Given the description of an element on the screen output the (x, y) to click on. 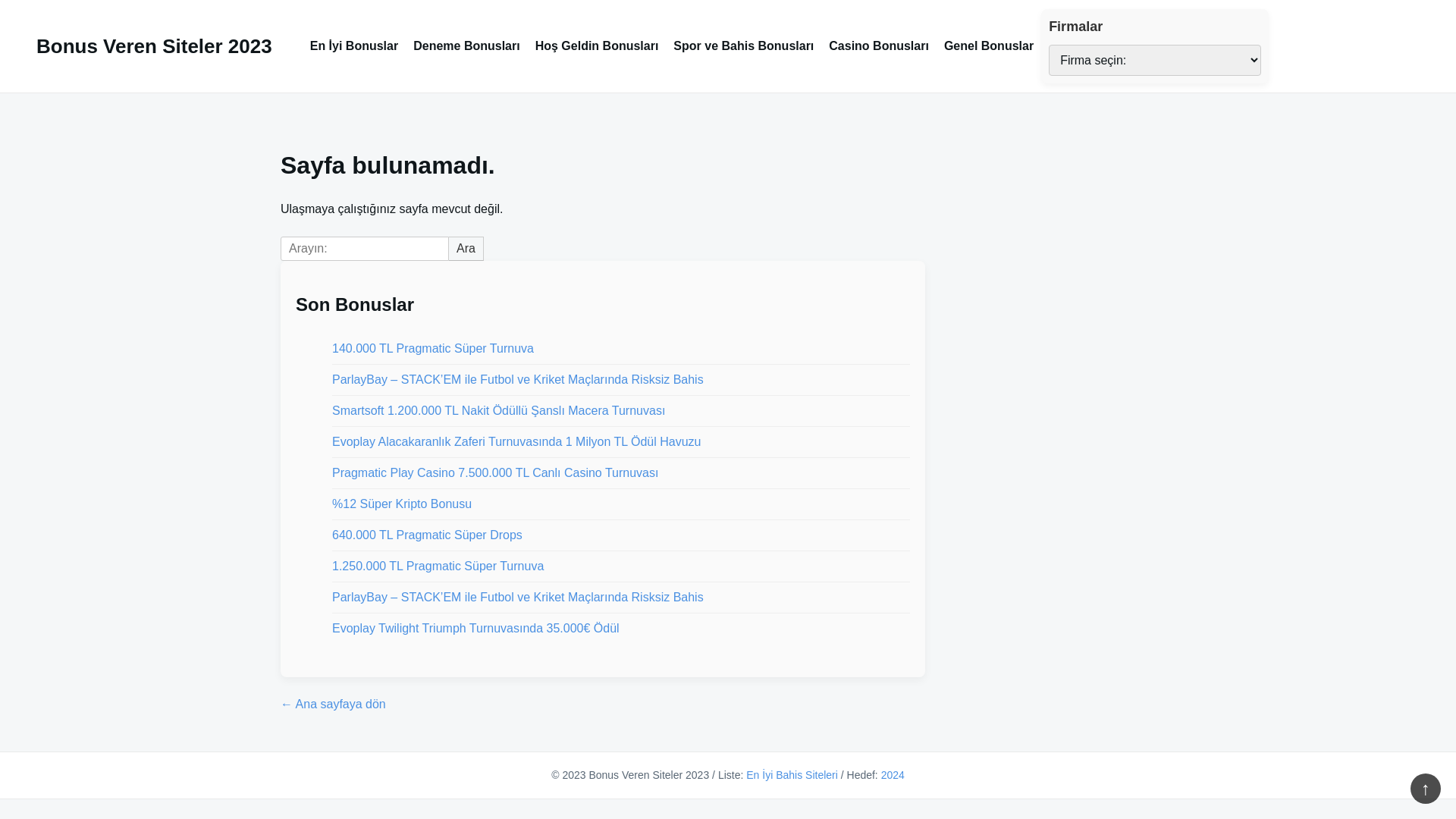
Bonus Veren Siteler 2023 Element type: text (154, 45)
2024 Element type: text (892, 774)
Genel Bonuslar Element type: text (988, 46)
Ara Element type: text (465, 248)
